Given the description of an element on the screen output the (x, y) to click on. 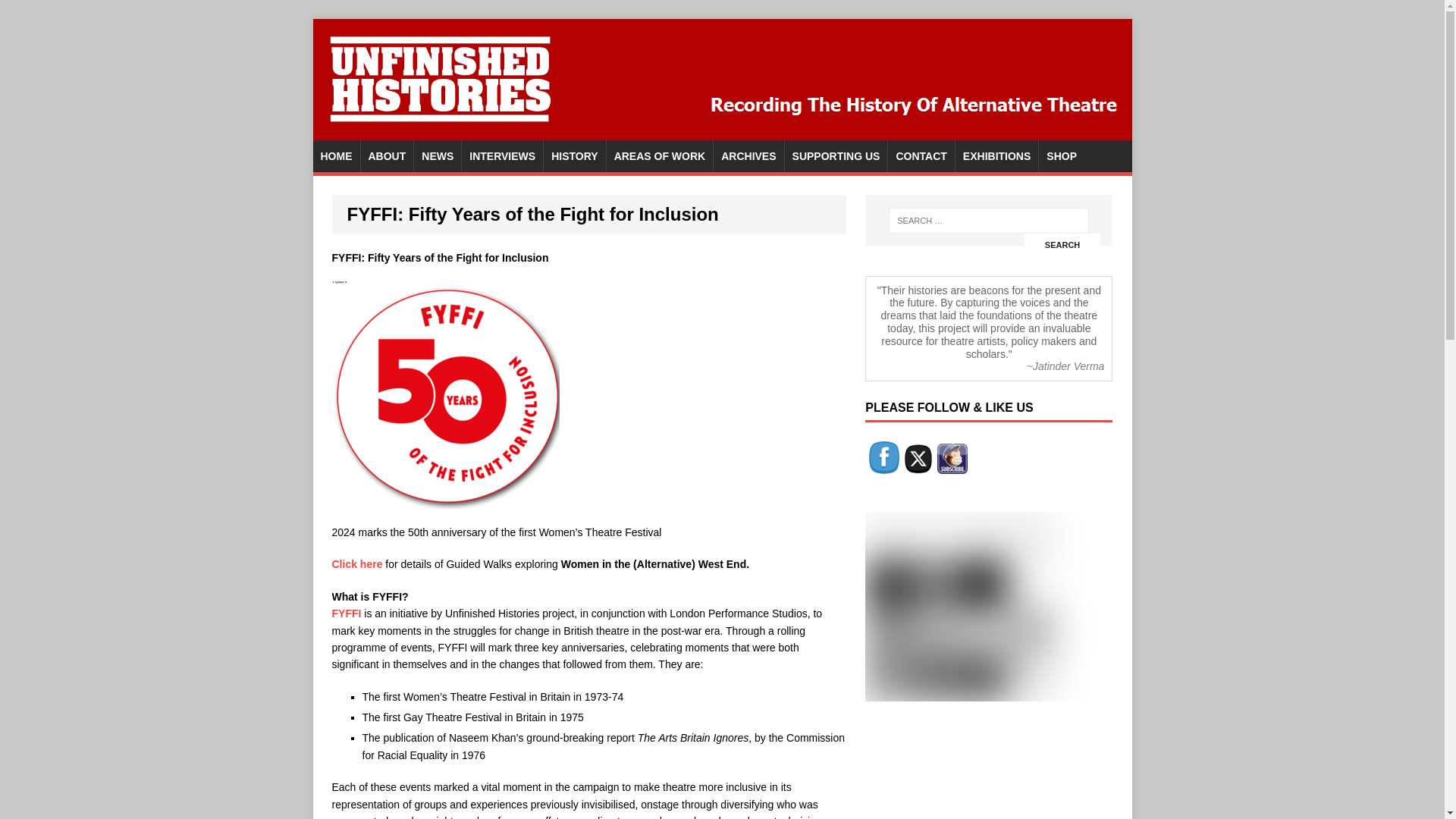
Facebook (884, 457)
Unfinished Histories (722, 132)
Mailing List (952, 458)
Search (1062, 245)
Search (1062, 245)
Twitter (917, 458)
